Given the description of an element on the screen output the (x, y) to click on. 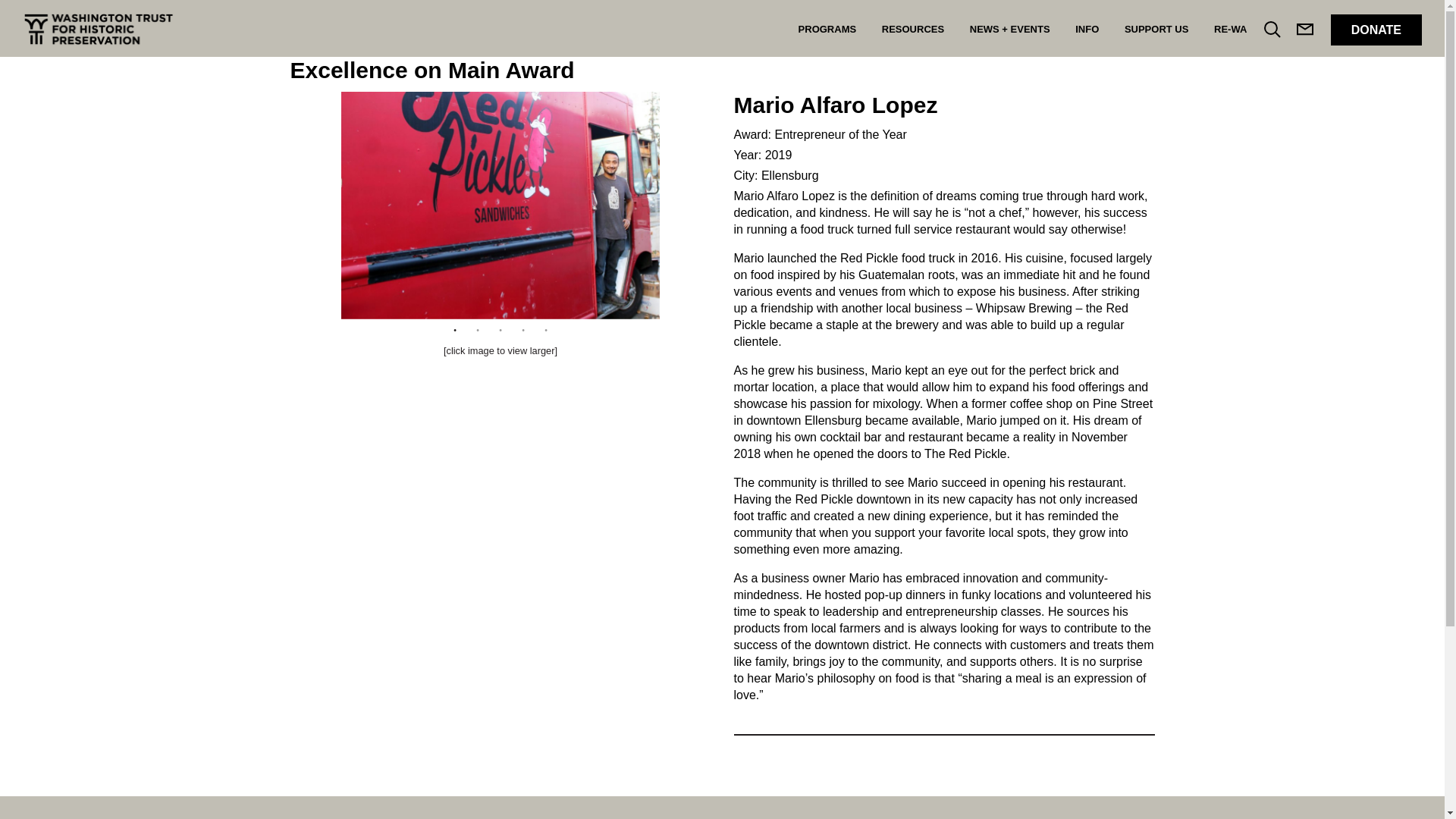
Search Icon (1272, 29)
SUPPORT US (1156, 28)
Submit (785, 88)
EMAIL ICON (1305, 31)
DONATE (1376, 29)
RESOURCES (912, 28)
PROGRAMS (827, 28)
RE-WA (1229, 28)
EMAIL ICON (1305, 32)
